Given the description of an element on the screen output the (x, y) to click on. 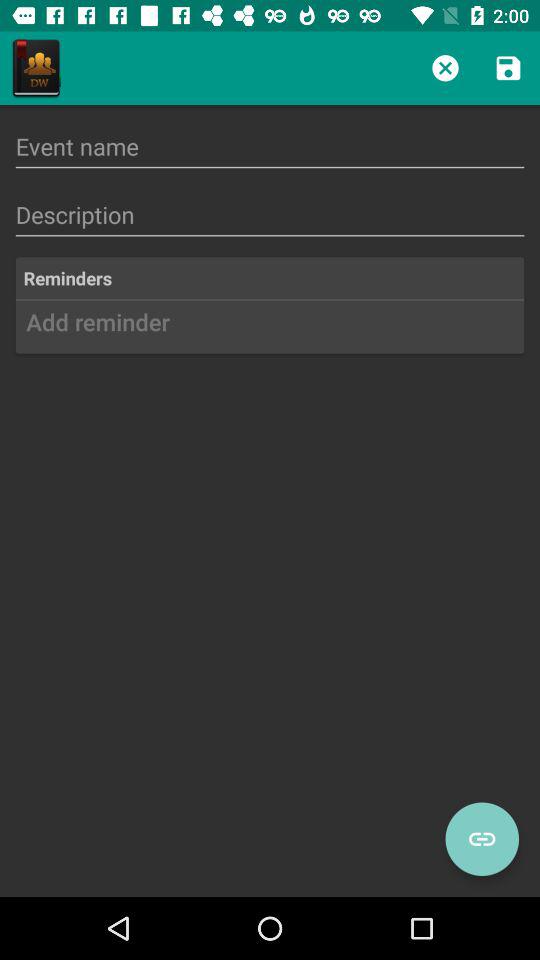
tap icon below the add reminder (482, 839)
